Given the description of an element on the screen output the (x, y) to click on. 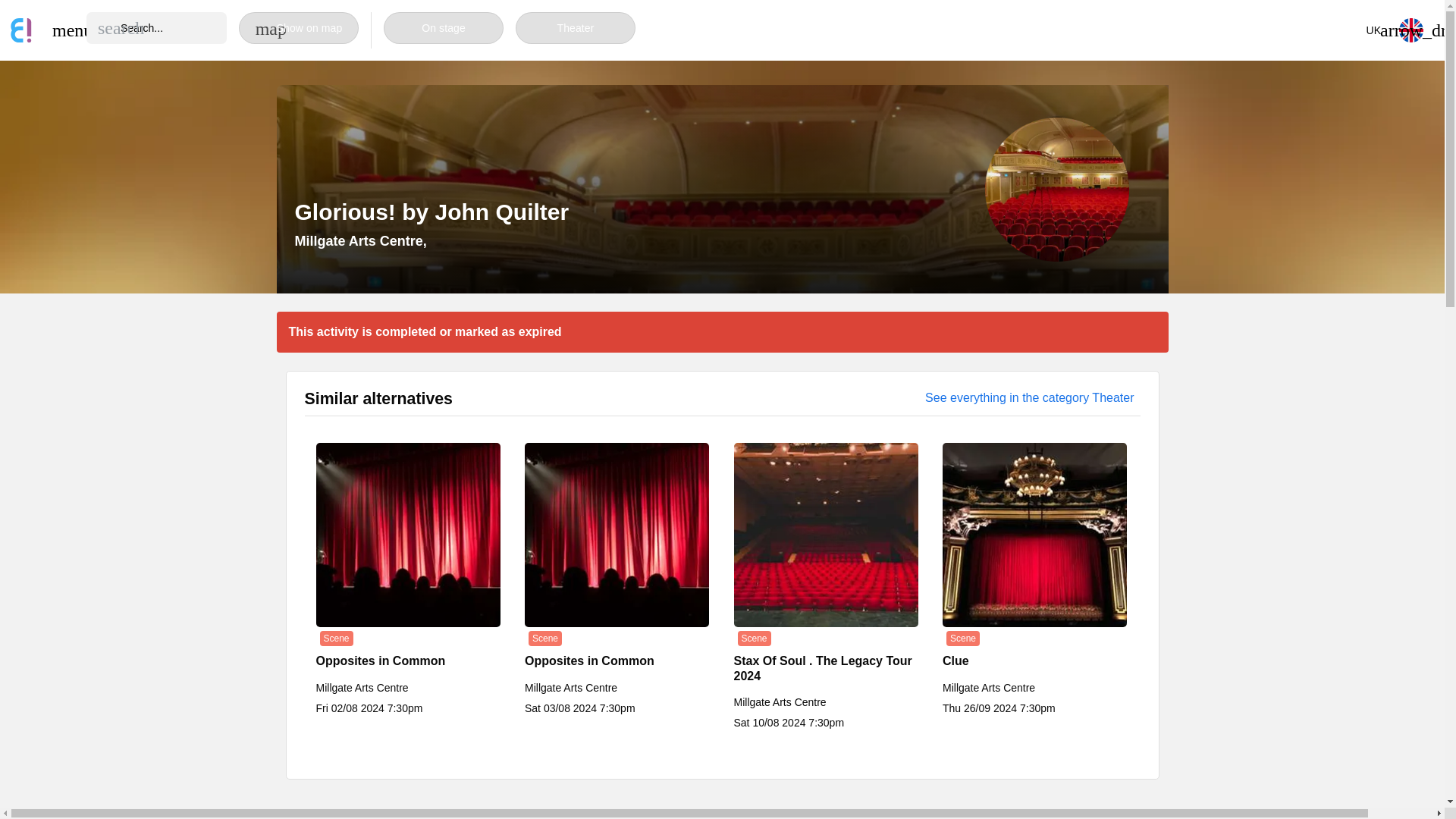
menu (63, 30)
map Show on map (298, 28)
Theater (574, 28)
search (120, 26)
Millgate Arts Centre, (360, 240)
Show on google maps. (360, 240)
On stage (443, 28)
See everything in the category Theater (1029, 397)
